Given the description of an element on the screen output the (x, y) to click on. 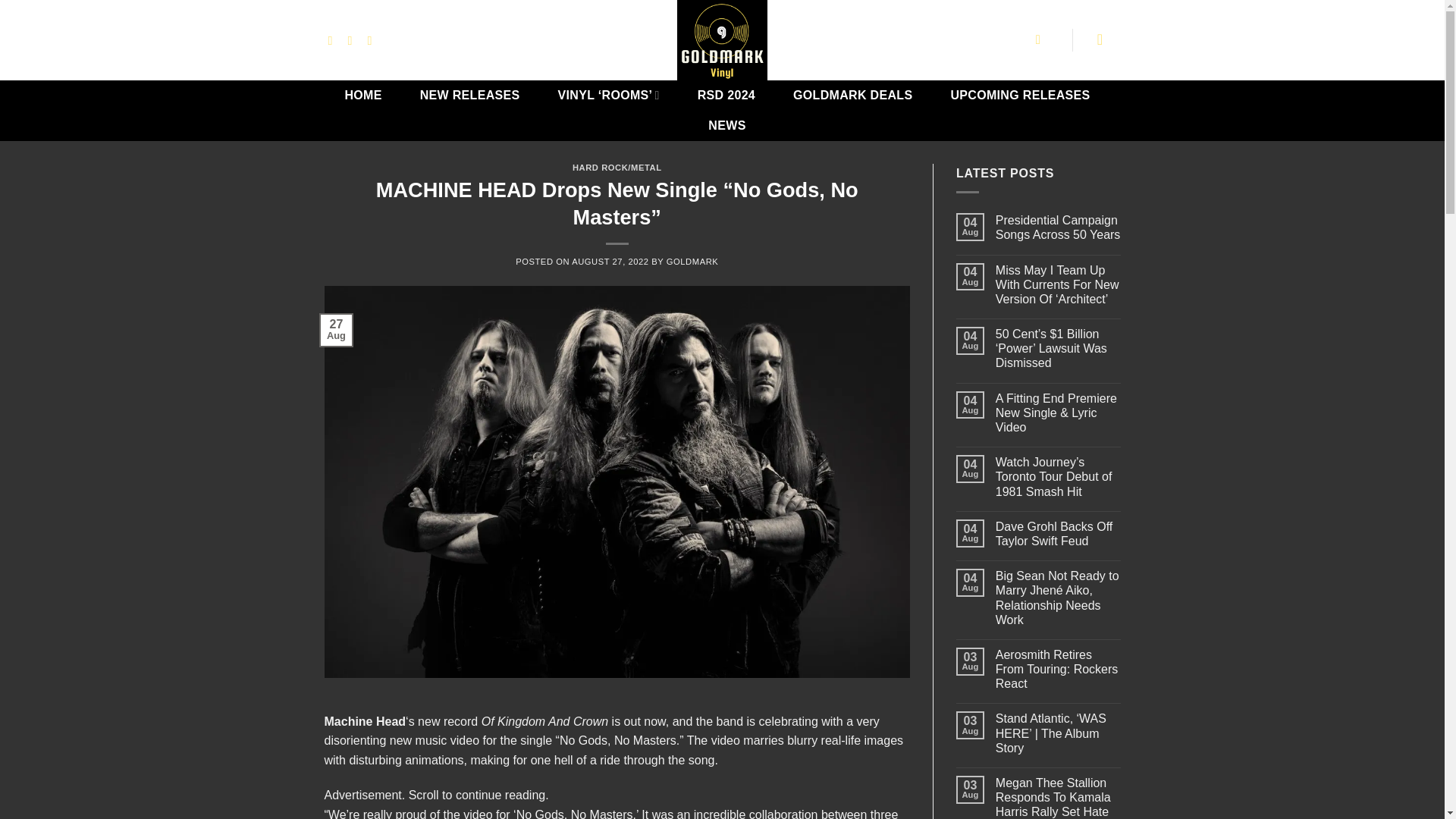
Send us an email (374, 39)
RSD 2024 (726, 95)
Follow on Instagram (333, 39)
goldmarkvinyl (722, 40)
GOLDMARK (692, 261)
UPCOMING RELEASES (1019, 95)
NEW RELEASES (469, 95)
Machine Head (365, 721)
NEWS (726, 125)
Presidential Campaign Songs Across 50 Years (1058, 226)
AUGUST 27, 2022 (609, 261)
HOME (362, 95)
Cart (1105, 39)
Follow on Twitter (353, 39)
